Given the description of an element on the screen output the (x, y) to click on. 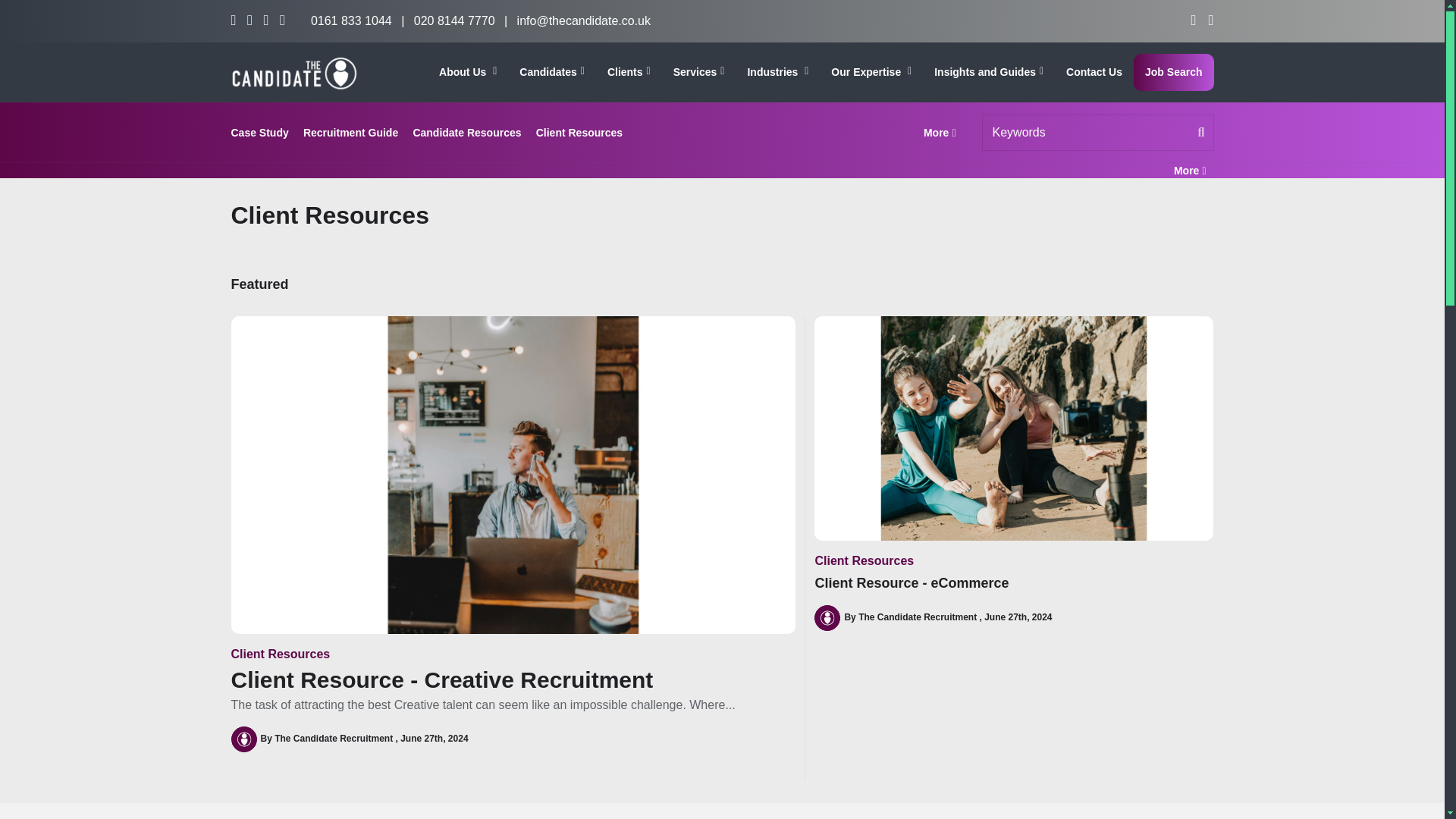
Services (699, 72)
0161 833 1044 (351, 20)
About Us (468, 72)
020 8144 7770 (454, 20)
Candidates (551, 72)
Clients (628, 72)
Industries (777, 72)
